Given the description of an element on the screen output the (x, y) to click on. 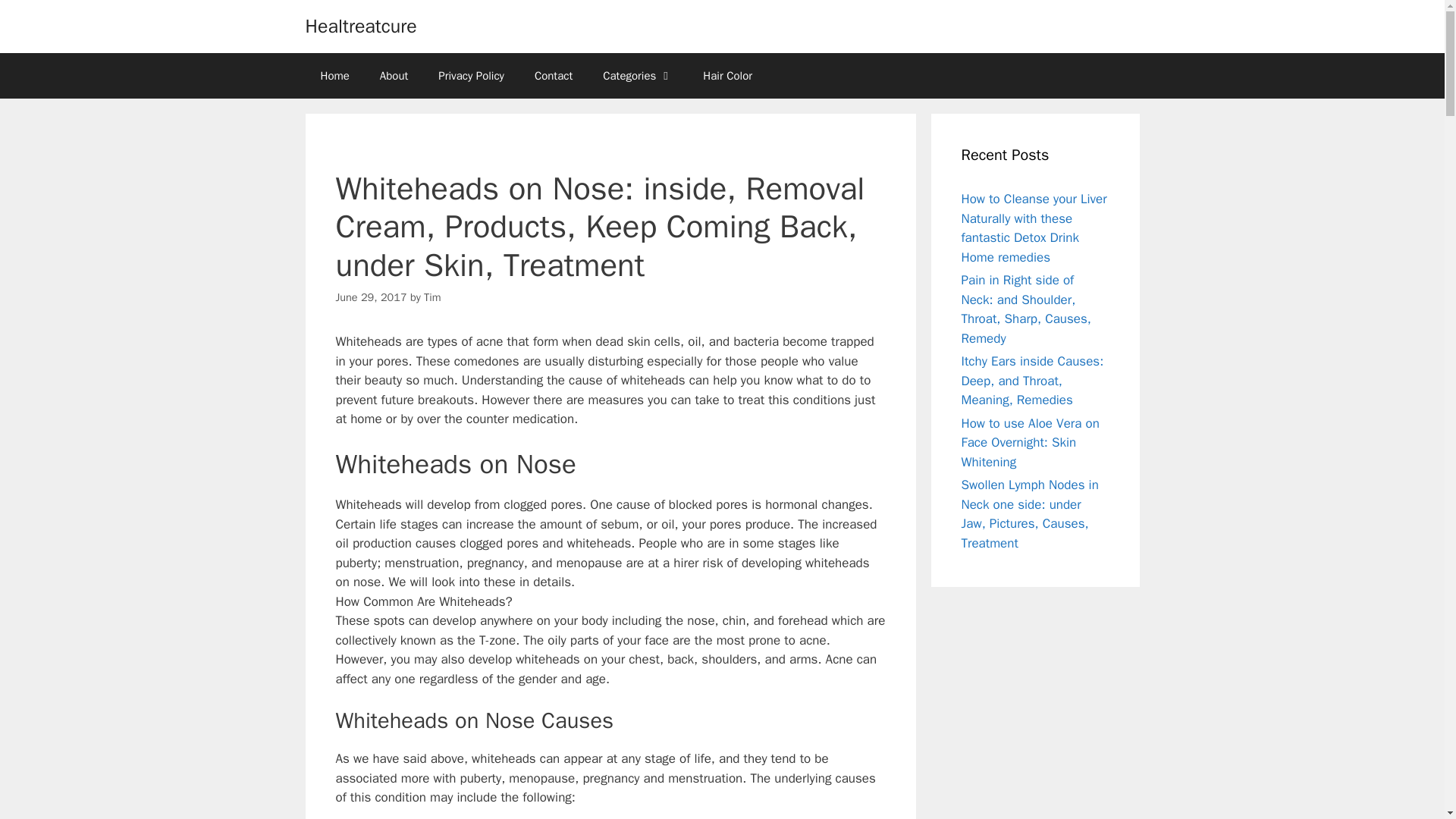
Healtreatcure (360, 25)
About (394, 75)
View all posts by Tim (432, 296)
Contact (553, 75)
Home (334, 75)
Categories (637, 75)
Privacy Policy (471, 75)
